Given the description of an element on the screen output the (x, y) to click on. 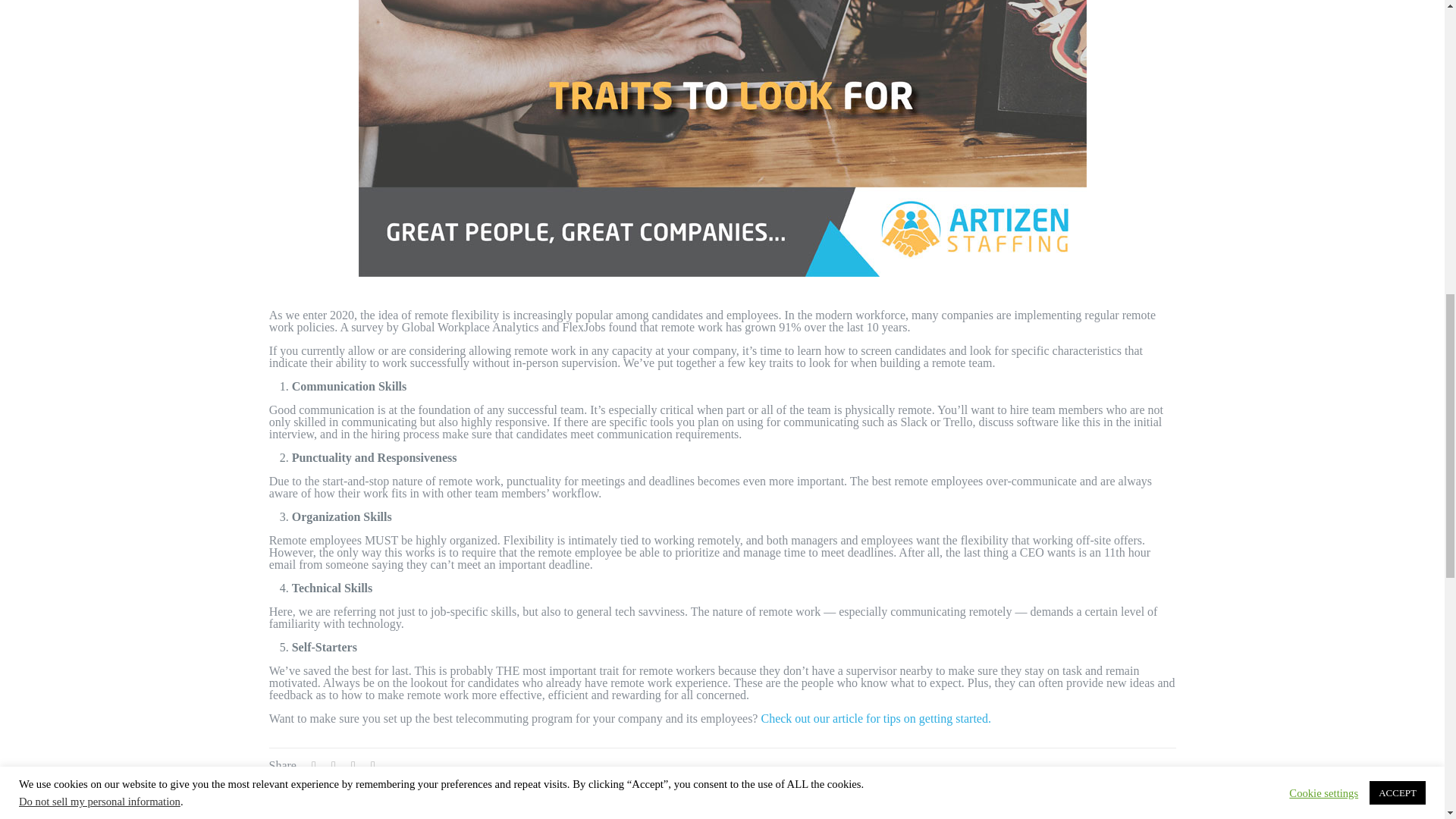
Check out our article for tips on getting started. (875, 717)
